Given the description of an element on the screen output the (x, y) to click on. 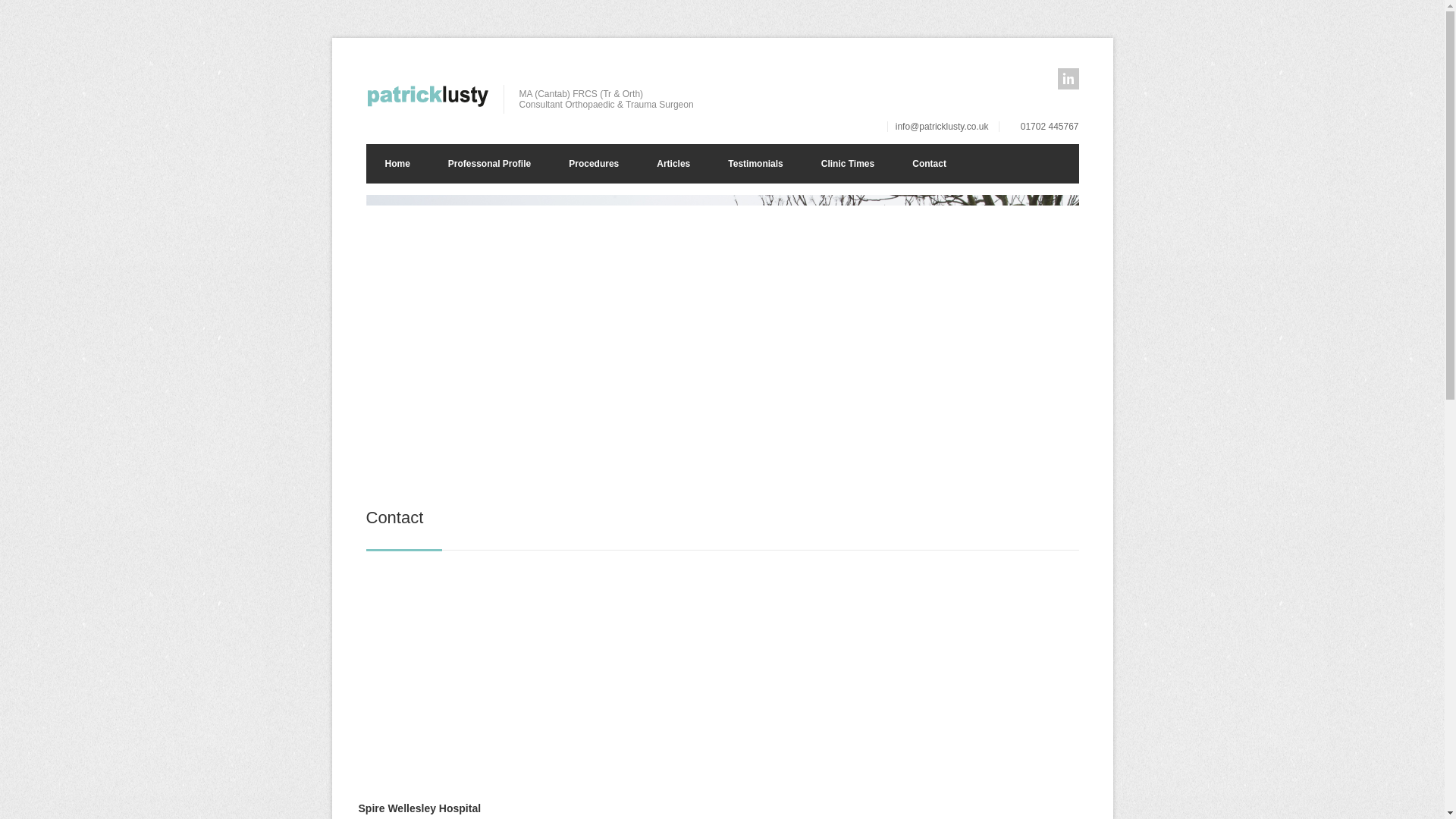
Home (396, 163)
Procedures (593, 163)
Articles (673, 163)
LinkedIn (1067, 78)
Testimonials (755, 163)
Clinic Times (847, 163)
Professonal Profile (489, 163)
Contact (929, 163)
